Given the description of an element on the screen output the (x, y) to click on. 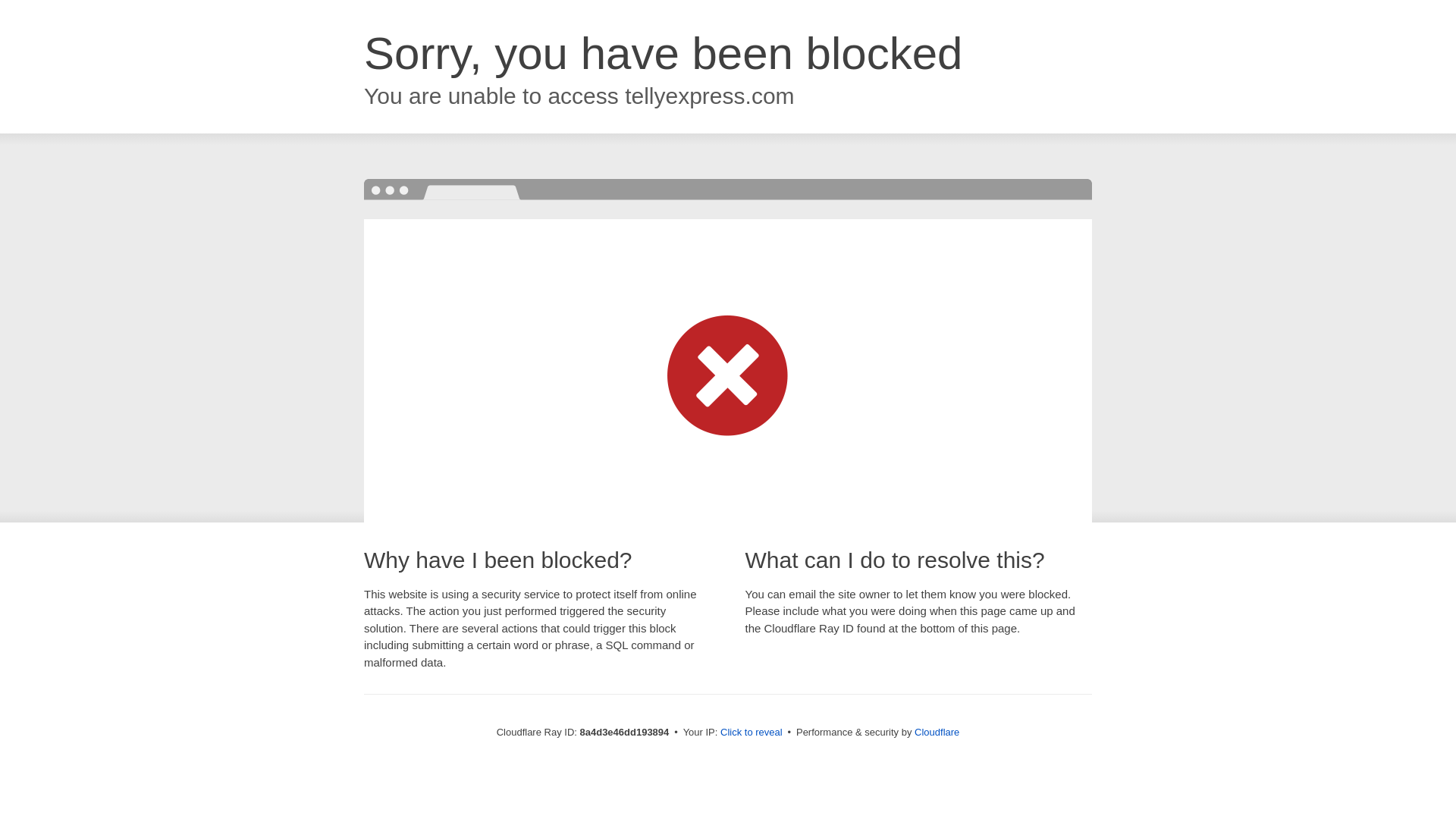
Click to reveal (751, 732)
Cloudflare (936, 731)
